Given the description of an element on the screen output the (x, y) to click on. 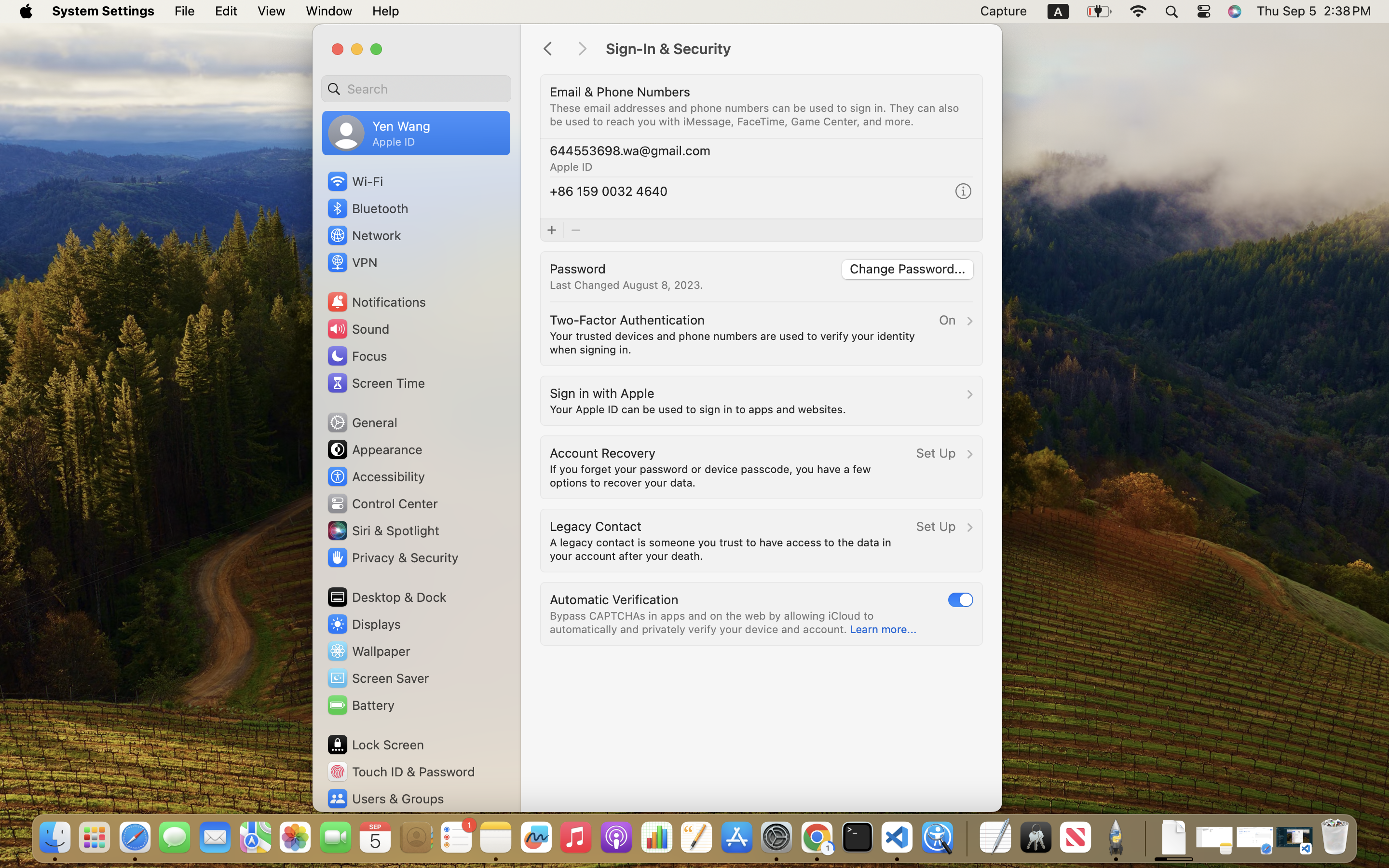
Email & Phone Numbers Element type: AXStaticText (619, 91)
Wi‑Fi Element type: AXStaticText (354, 180)
Bluetooth Element type: AXStaticText (367, 207)
VPN Element type: AXStaticText (351, 261)
Network Element type: AXStaticText (363, 234)
